Given the description of an element on the screen output the (x, y) to click on. 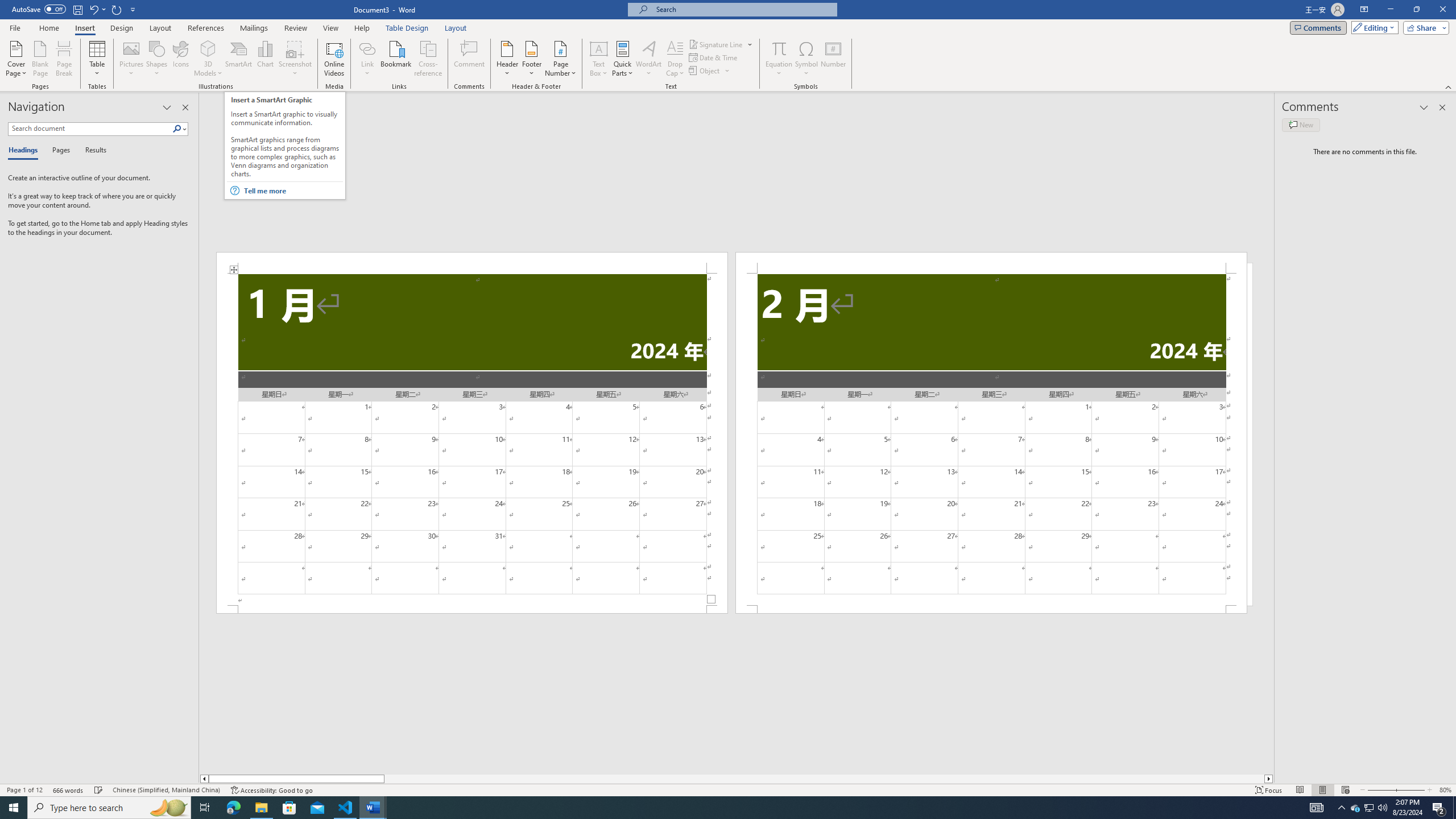
Header (507, 58)
Bookmark... (396, 58)
Cover Page (16, 58)
Page 1 content (471, 439)
Signature Line (721, 44)
